Given the description of an element on the screen output the (x, y) to click on. 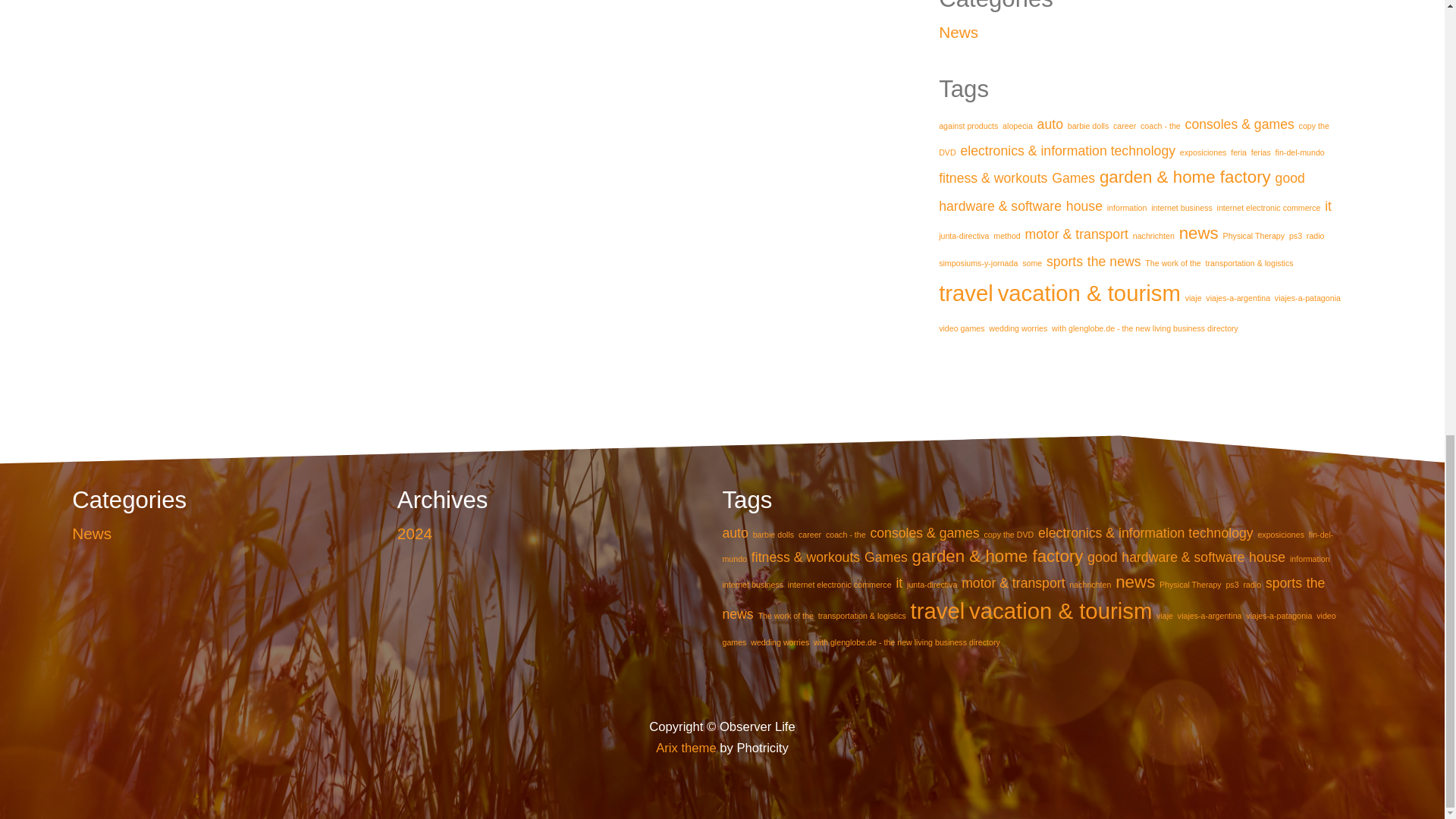
coach - the (1160, 125)
barbie dolls (1088, 125)
internet electronic commerce (1268, 207)
internet business (1181, 207)
junta-directiva (963, 235)
copy the DVD (1134, 139)
information (1126, 207)
auto (1049, 124)
Games (1072, 177)
fin-del-mundo (1299, 152)
